Given the description of an element on the screen output the (x, y) to click on. 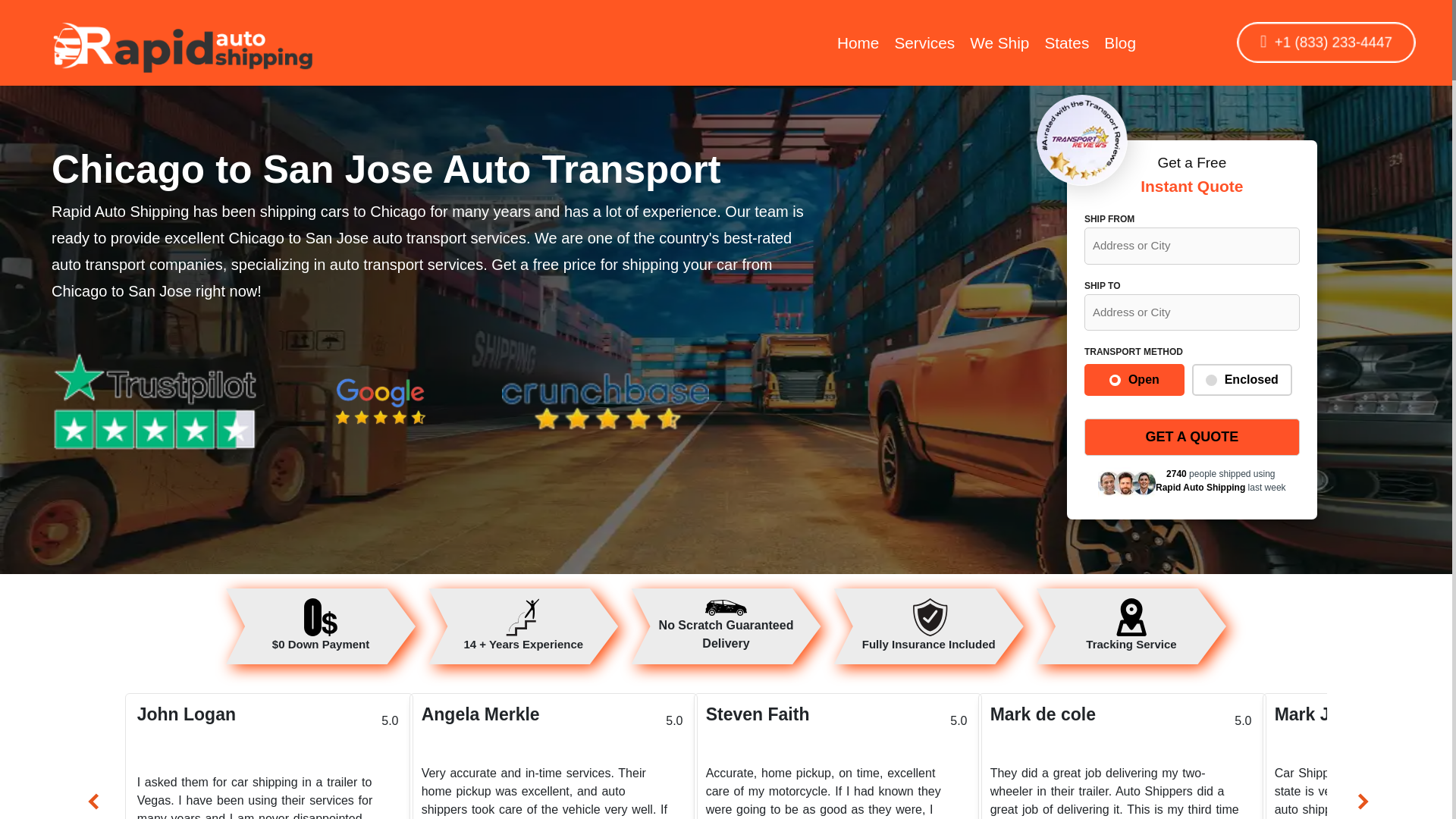
Services (924, 42)
Home (858, 42)
Get A Quote (1192, 436)
Blog (1119, 42)
States (1066, 42)
We Ship (999, 42)
